Given the description of an element on the screen output the (x, y) to click on. 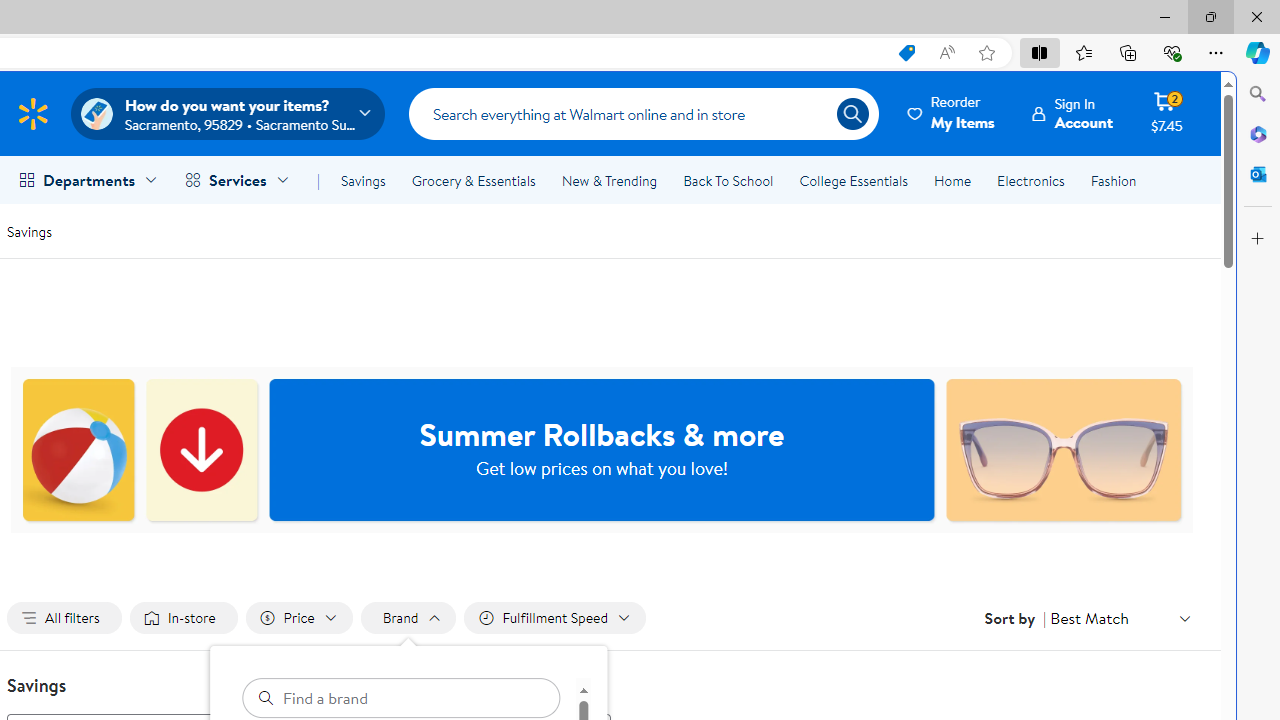
Fashion (1113, 180)
ReorderMy Items (952, 113)
Close Search pane (1258, 94)
Savings (363, 180)
All filters none applied, activate to change (63, 618)
Back To School (728, 180)
Grocery & Essentials (473, 180)
Search icon (852, 113)
Fashion (1113, 180)
College Essentials (852, 180)
